Given the description of an element on the screen output the (x, y) to click on. 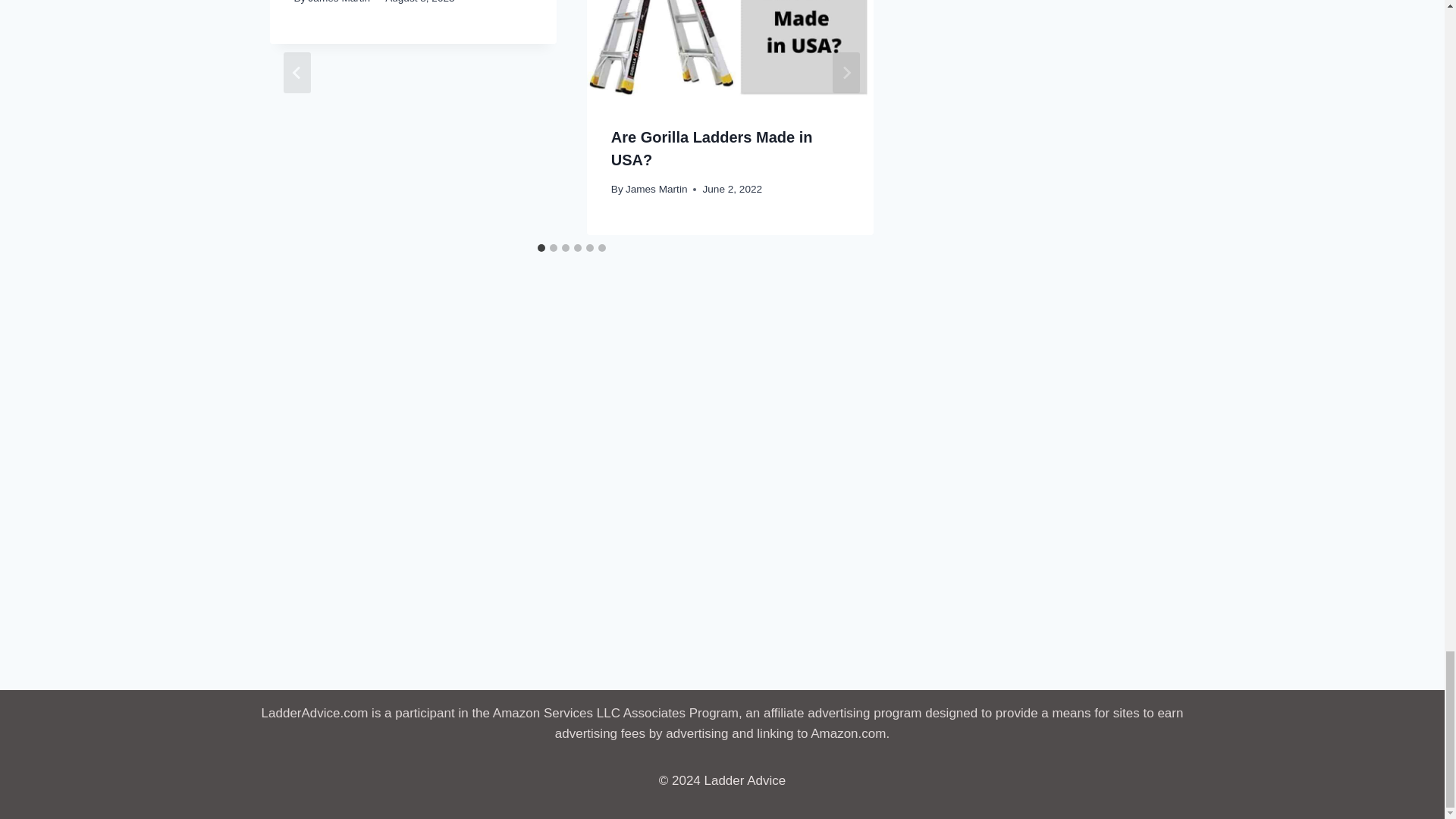
Are Gorilla Ladders Made in USA? (711, 148)
James Martin (339, 2)
James Martin (656, 188)
